Given the description of an element on the screen output the (x, y) to click on. 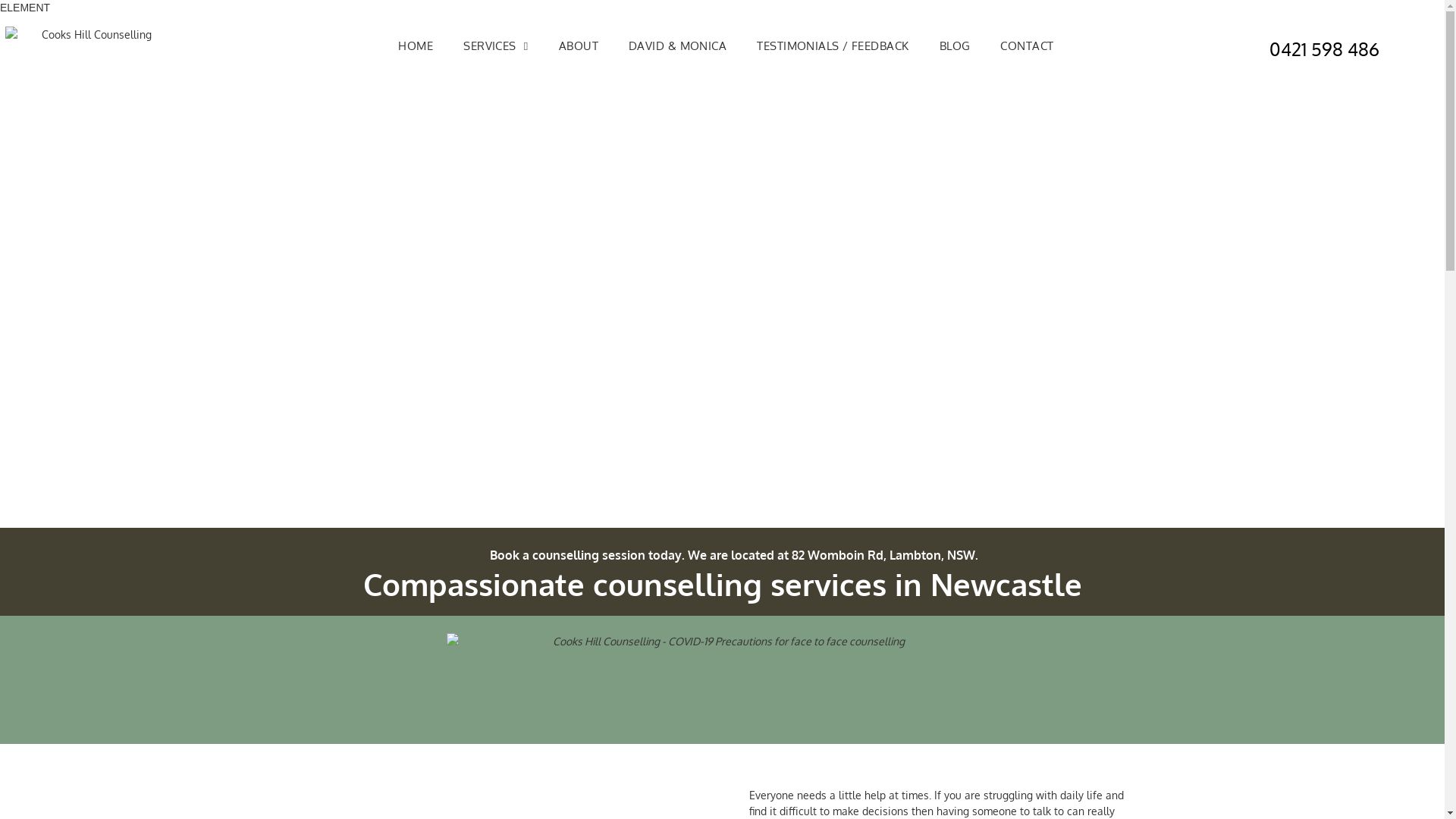
BLOG Element type: text (954, 46)
CONTACT Element type: text (1026, 46)
HOME Element type: text (415, 46)
ABOUT Element type: text (578, 46)
SERVICES Element type: text (495, 46)
DAVID & MONICA Element type: text (677, 46)
TESTIMONIALS / FEEDBACK Element type: text (832, 46)
0421 598 486 Element type: text (1324, 48)
